Given the description of an element on the screen output the (x, y) to click on. 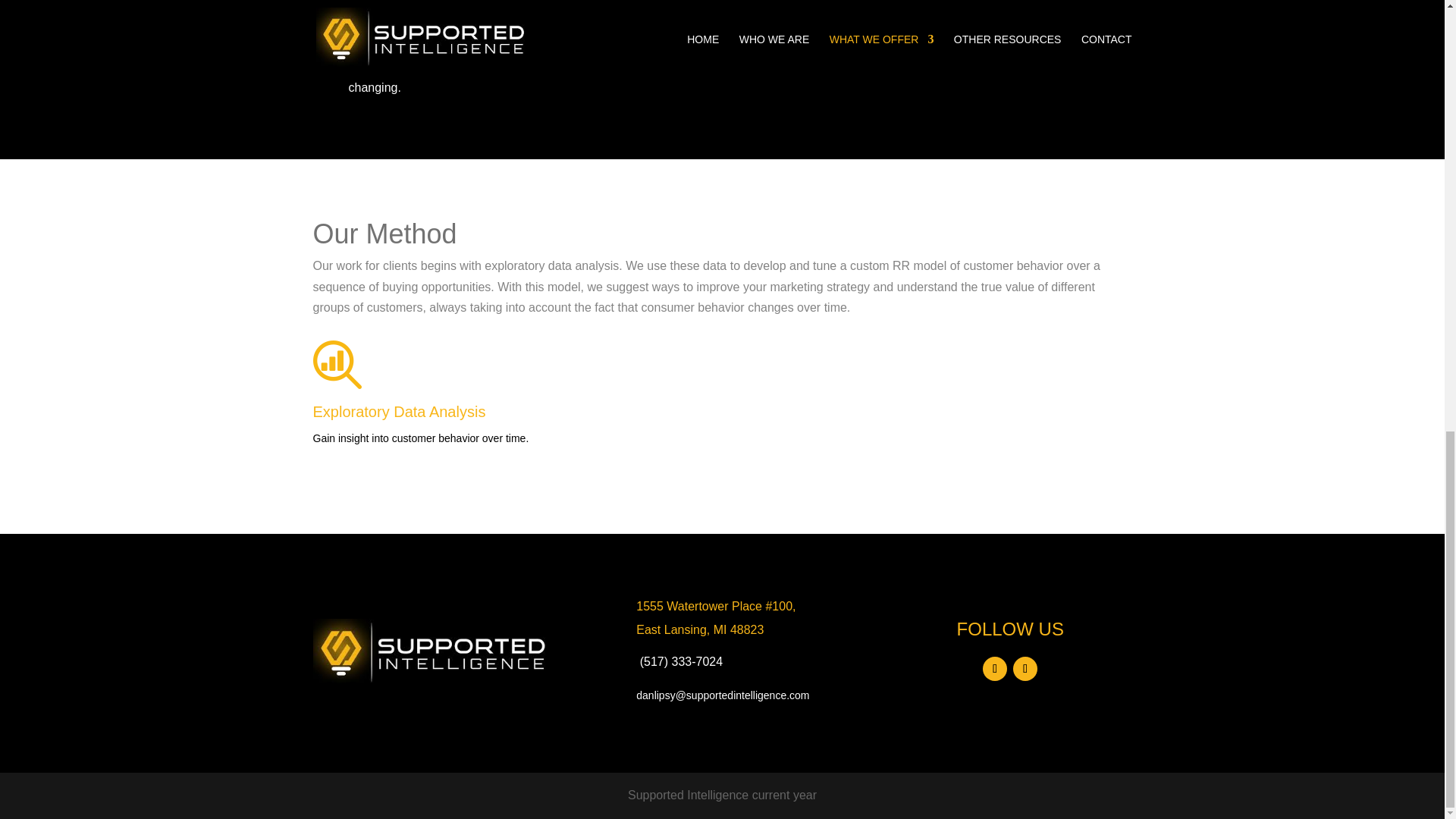
Follow on X (1024, 668)
Follow on Facebook (994, 668)
Exploratory Data Analysis (398, 411)
